Given the description of an element on the screen output the (x, y) to click on. 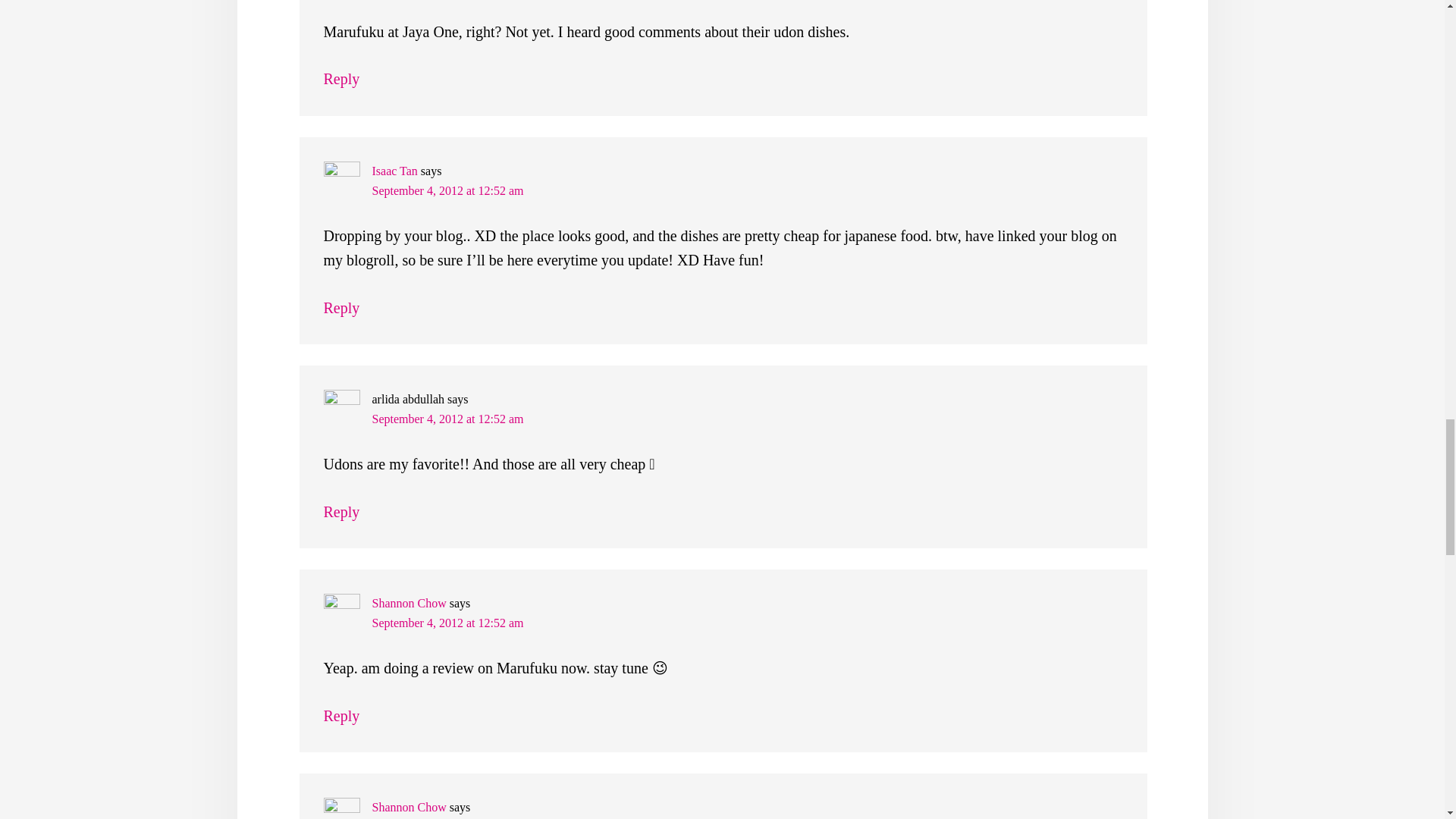
Reply (341, 511)
Isaac Tan (393, 170)
September 4, 2012 at 12:52 am (446, 190)
Reply (341, 78)
Shannon Chow (408, 603)
September 4, 2012 at 12:52 am (446, 622)
Shannon Chow (408, 807)
September 4, 2012 at 12:52 am (446, 418)
Reply (341, 307)
Reply (341, 715)
